Given the description of an element on the screen output the (x, y) to click on. 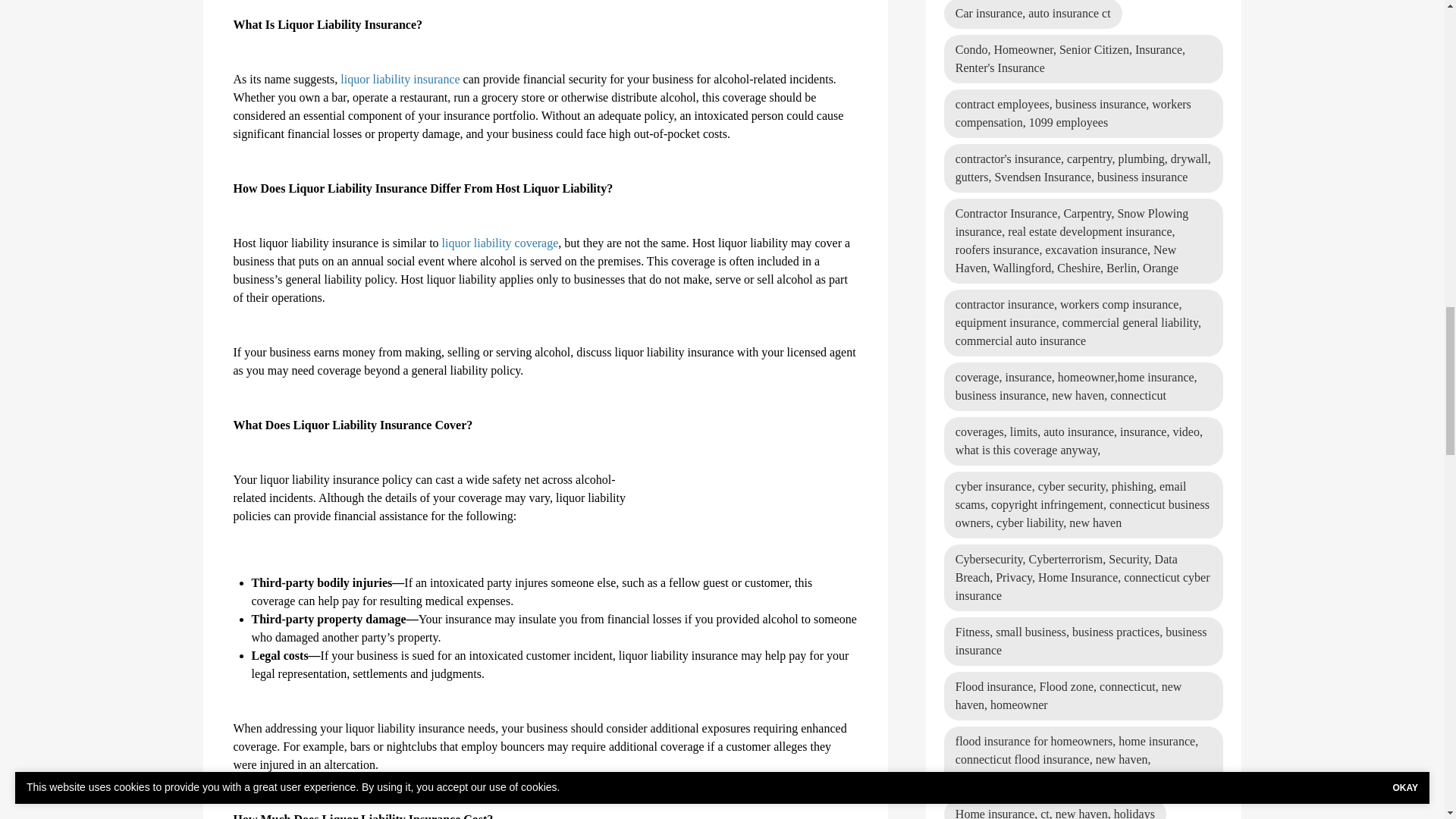
liquor liability coverage (499, 242)
liquor liability insurance (400, 78)
